Given the description of an element on the screen output the (x, y) to click on. 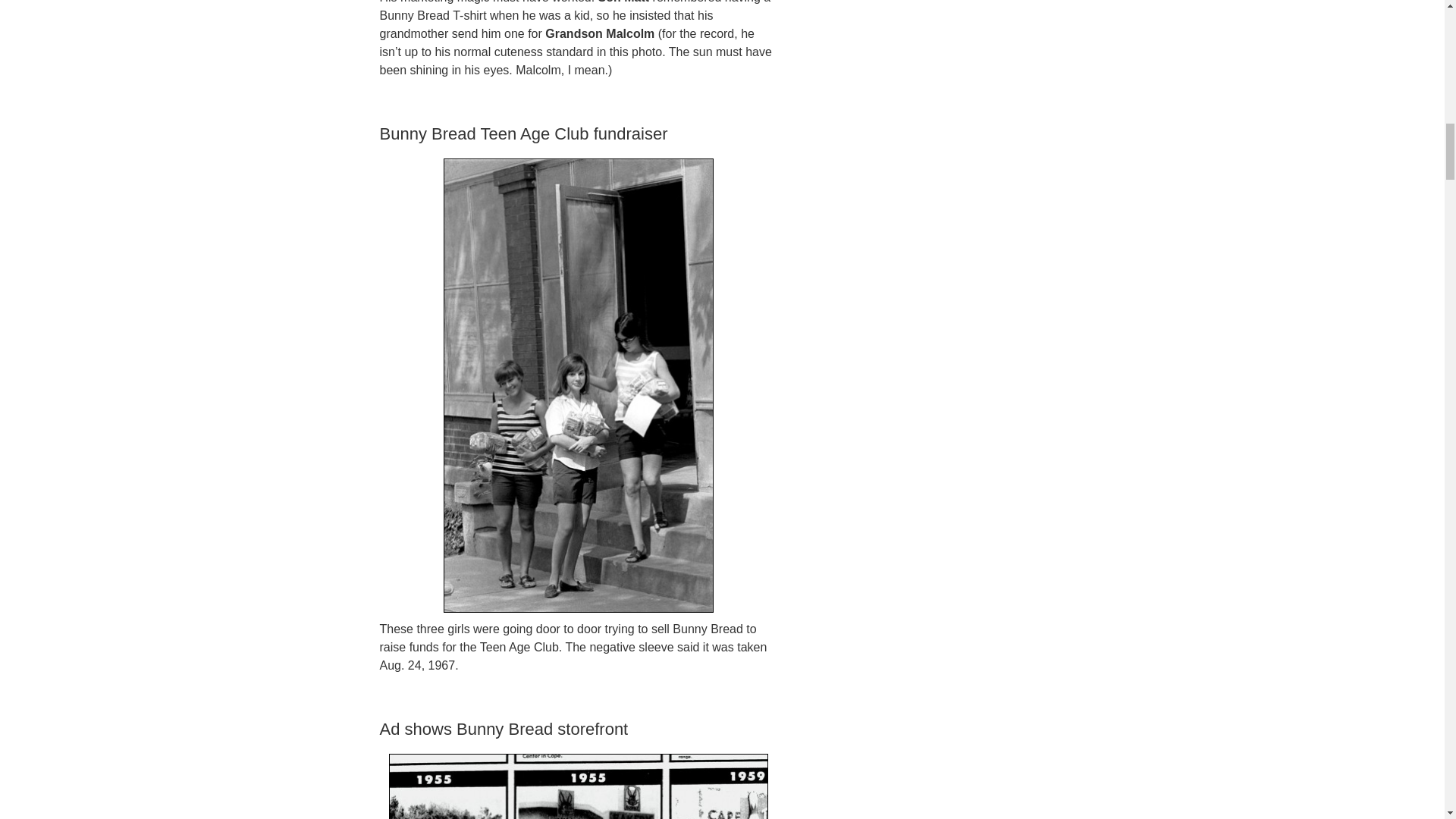
Bunny Bread (578, 786)
